Given the description of an element on the screen output the (x, y) to click on. 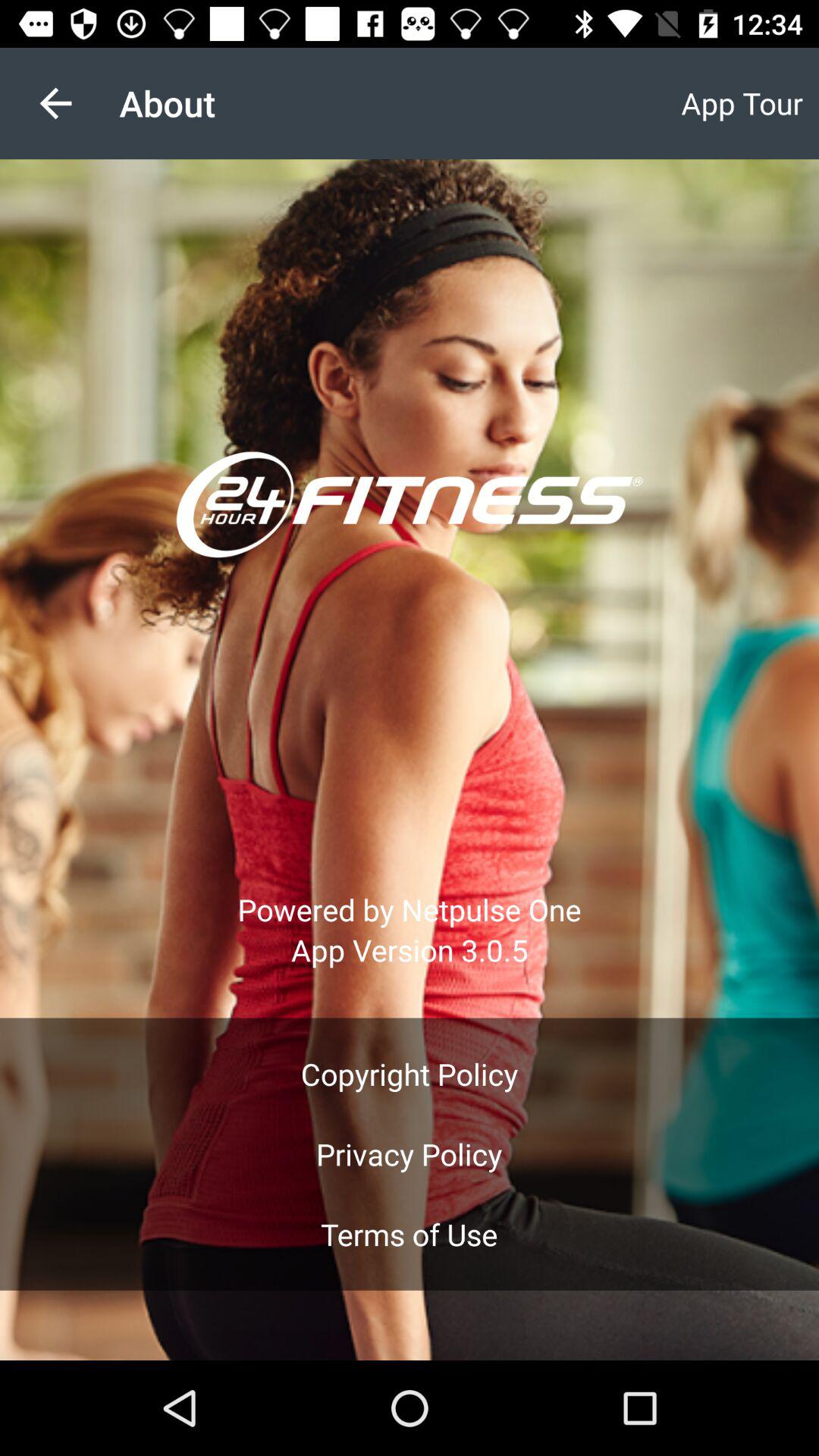
click the item at the top right corner (742, 103)
